Given the description of an element on the screen output the (x, y) to click on. 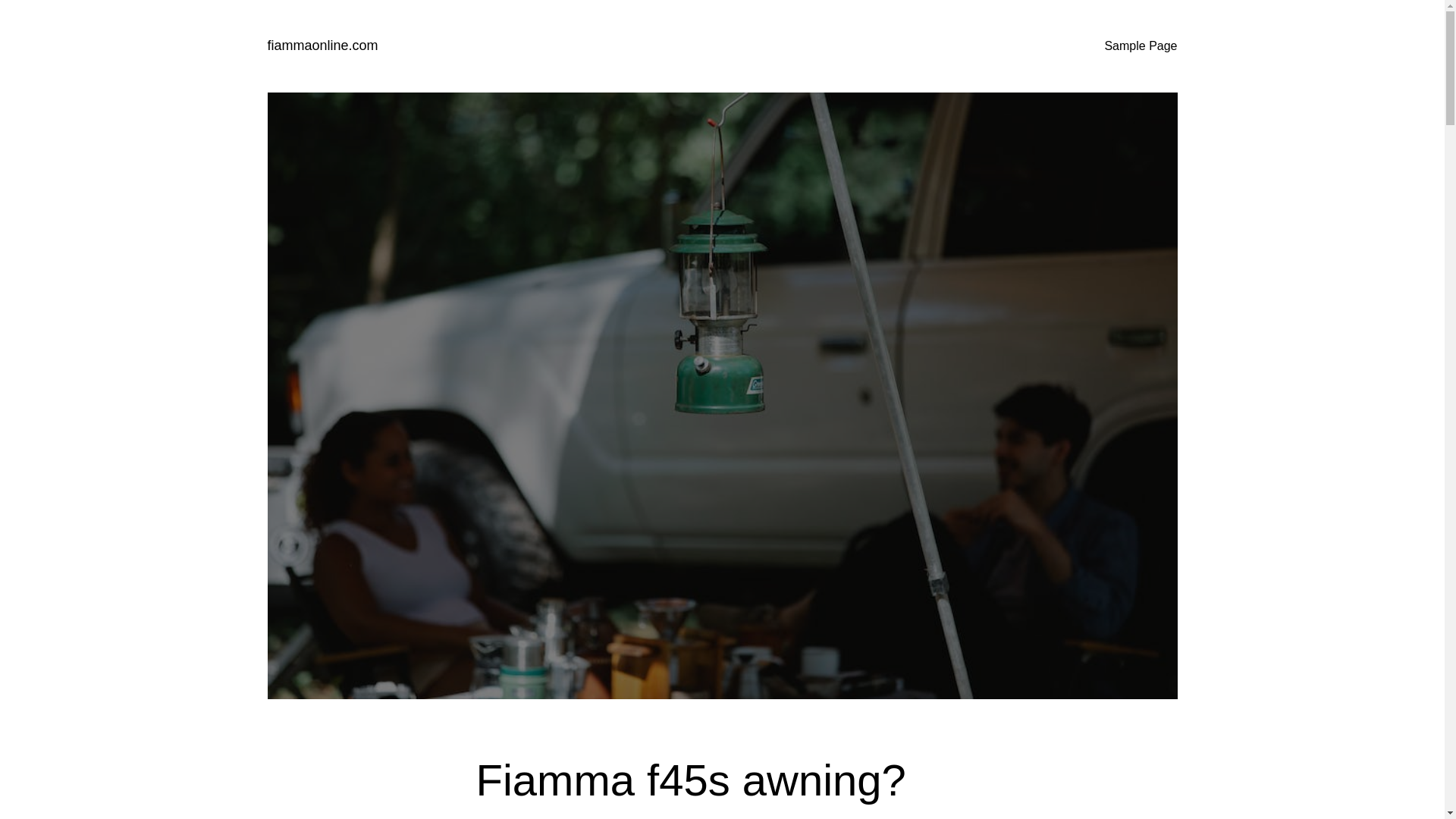
Sample Page (1139, 46)
fiammaonline.com (321, 45)
